Given the description of an element on the screen output the (x, y) to click on. 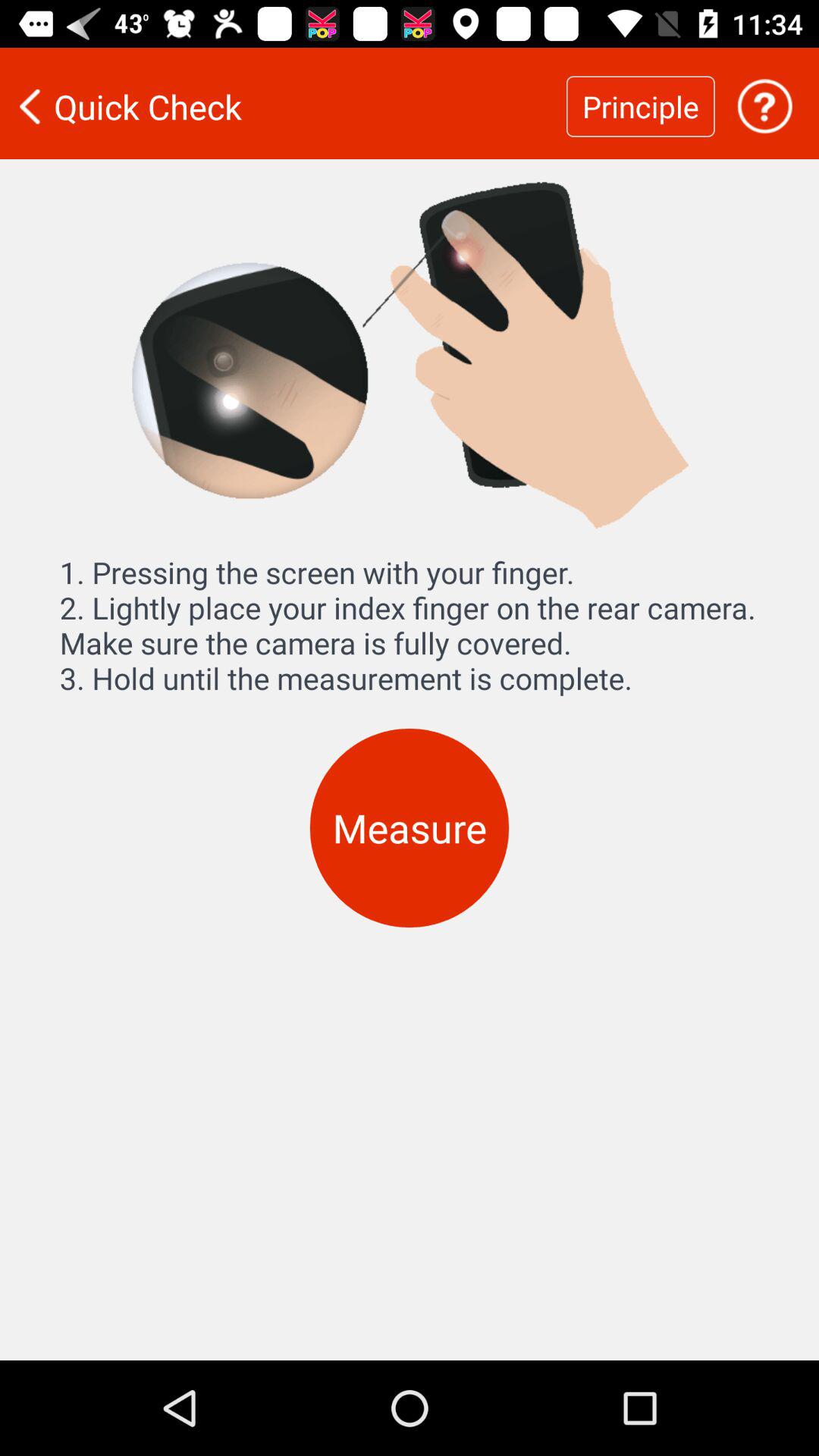
jump until principle item (640, 106)
